Given the description of an element on the screen output the (x, y) to click on. 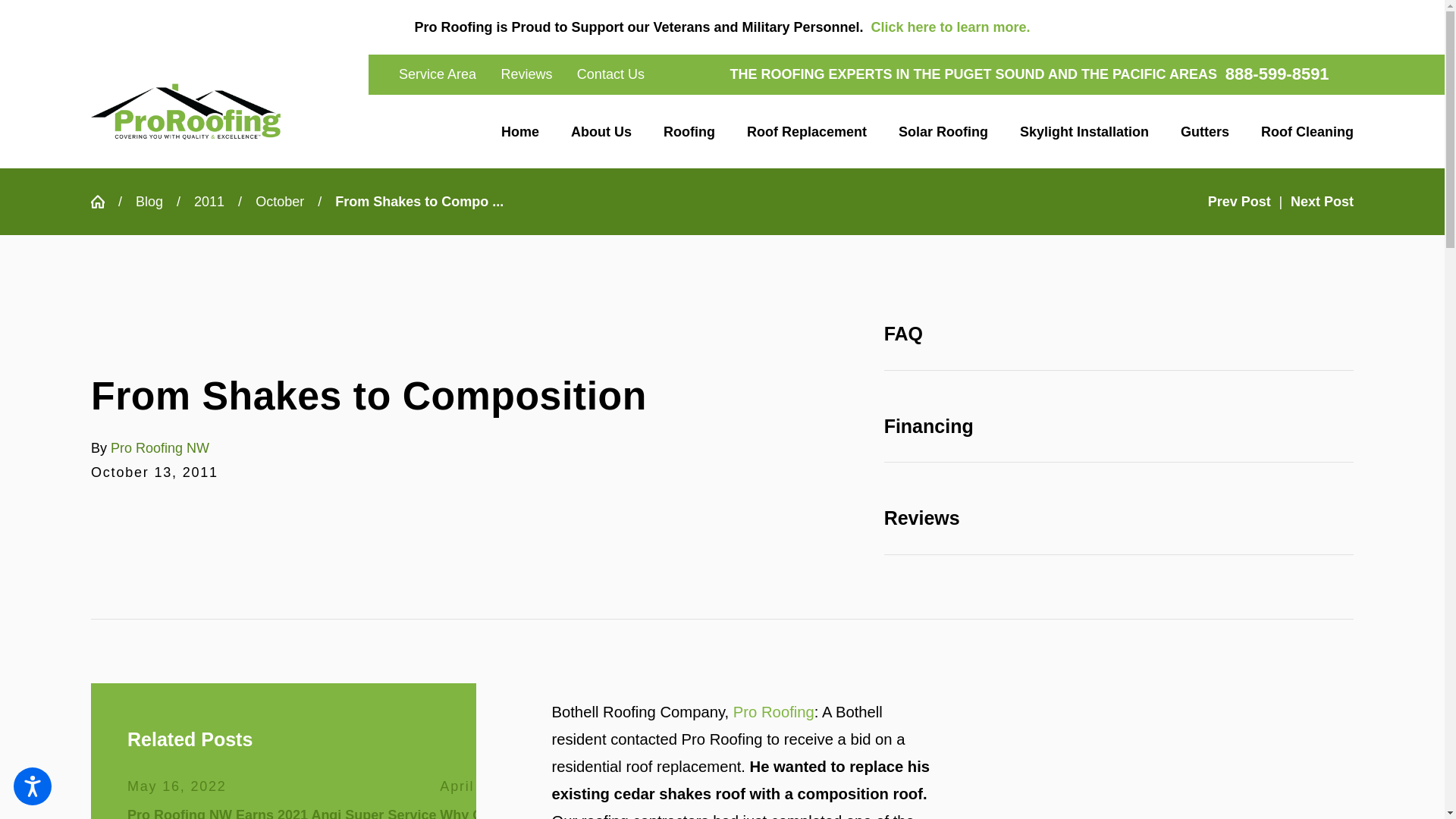
888-599-8591 (1277, 74)
Service Area (437, 73)
Roofing (688, 131)
Open the accessibility options menu (31, 786)
Click here to learn more. (949, 27)
Home (527, 131)
Pro Roofing NW (185, 110)
About Us (600, 131)
Contact Us (610, 73)
Reviews (525, 73)
